Given the description of an element on the screen output the (x, y) to click on. 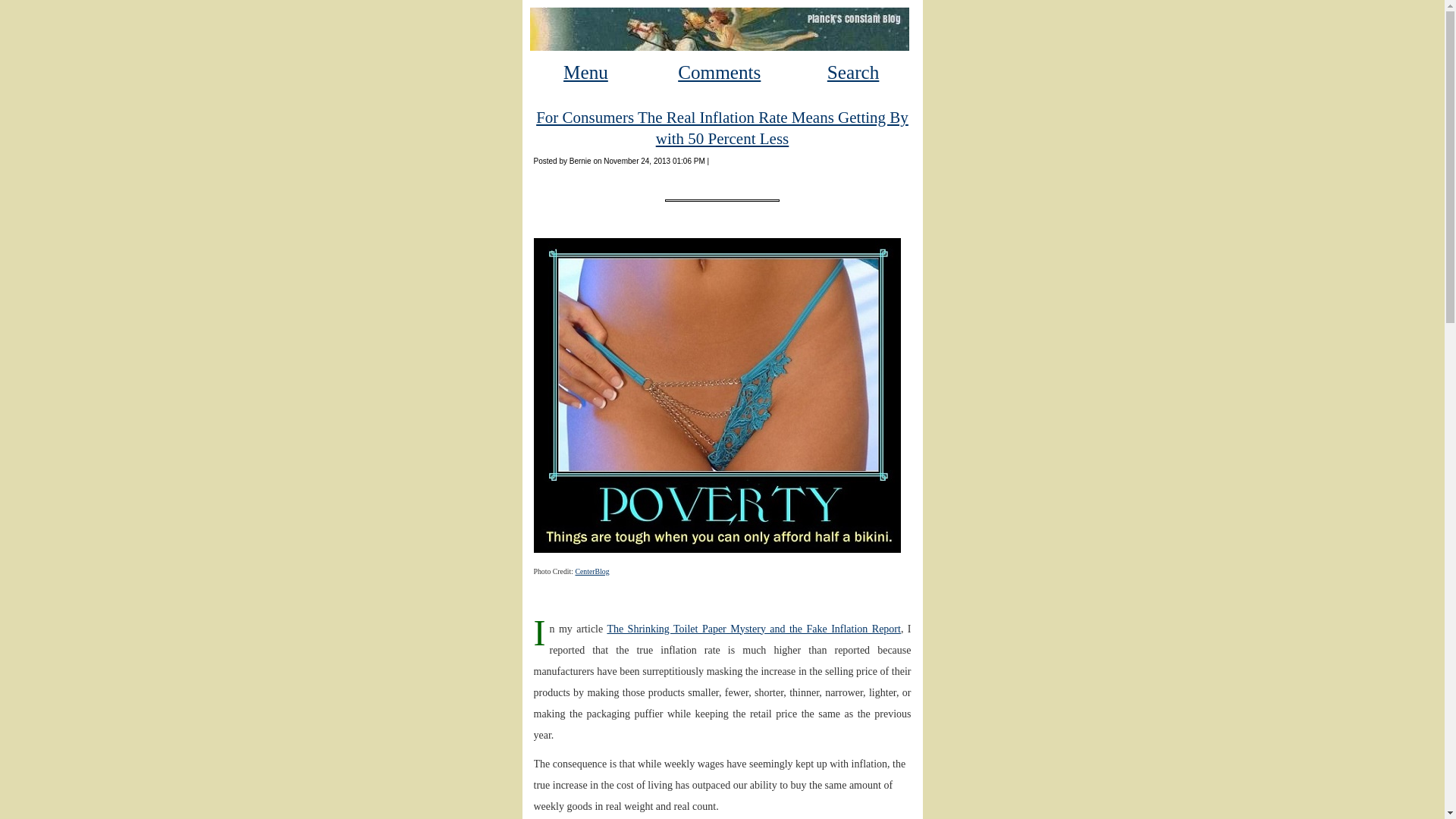
Comments (719, 72)
Menu (585, 72)
CenterBlog (591, 571)
Search (853, 72)
